Given the description of an element on the screen output the (x, y) to click on. 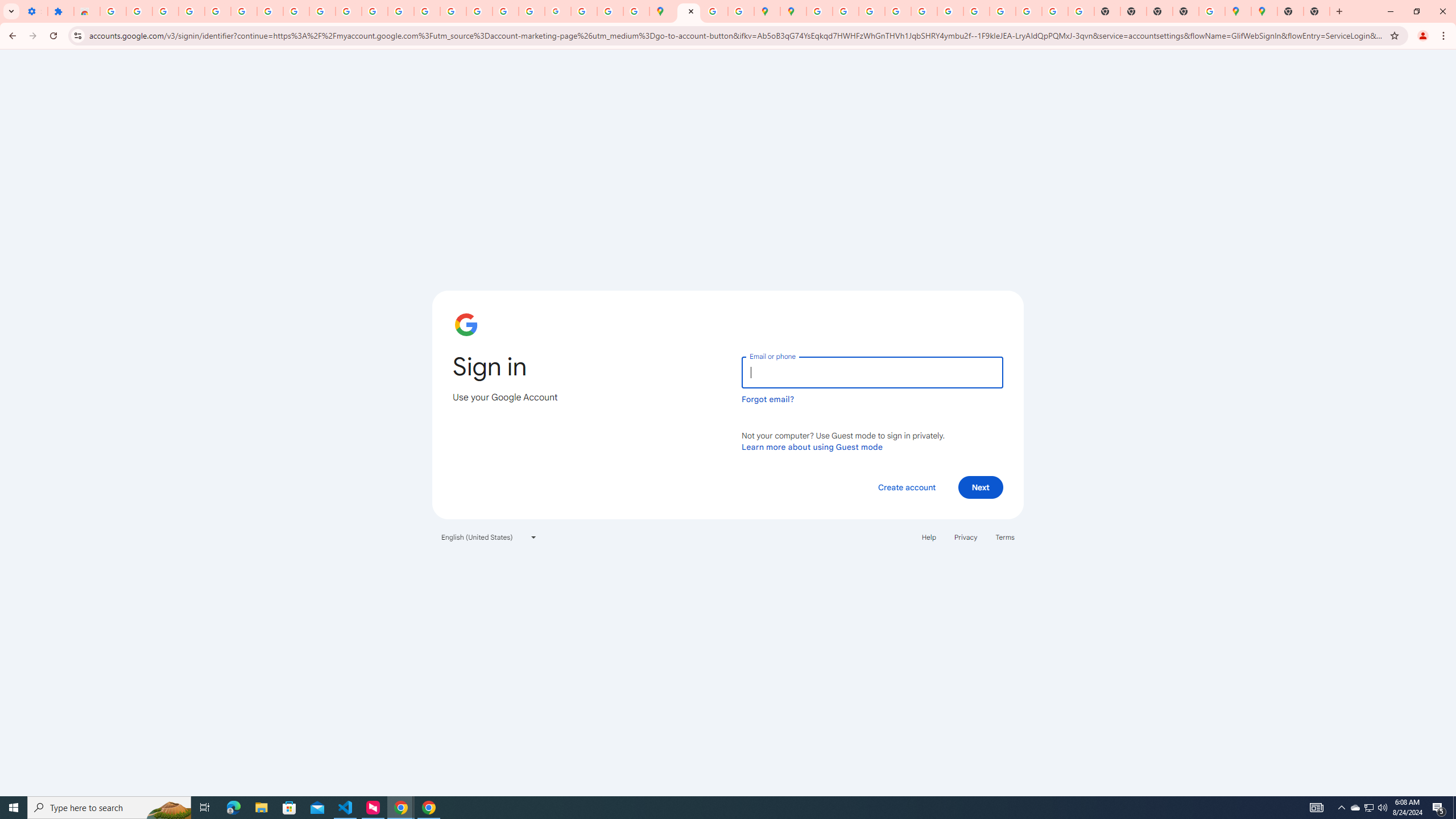
New Tab (1290, 11)
Email or phone (871, 372)
Settings - On startup (34, 11)
Create your Google Account (715, 11)
Privacy Help Center - Policies Help (453, 11)
